Given the description of an element on the screen output the (x, y) to click on. 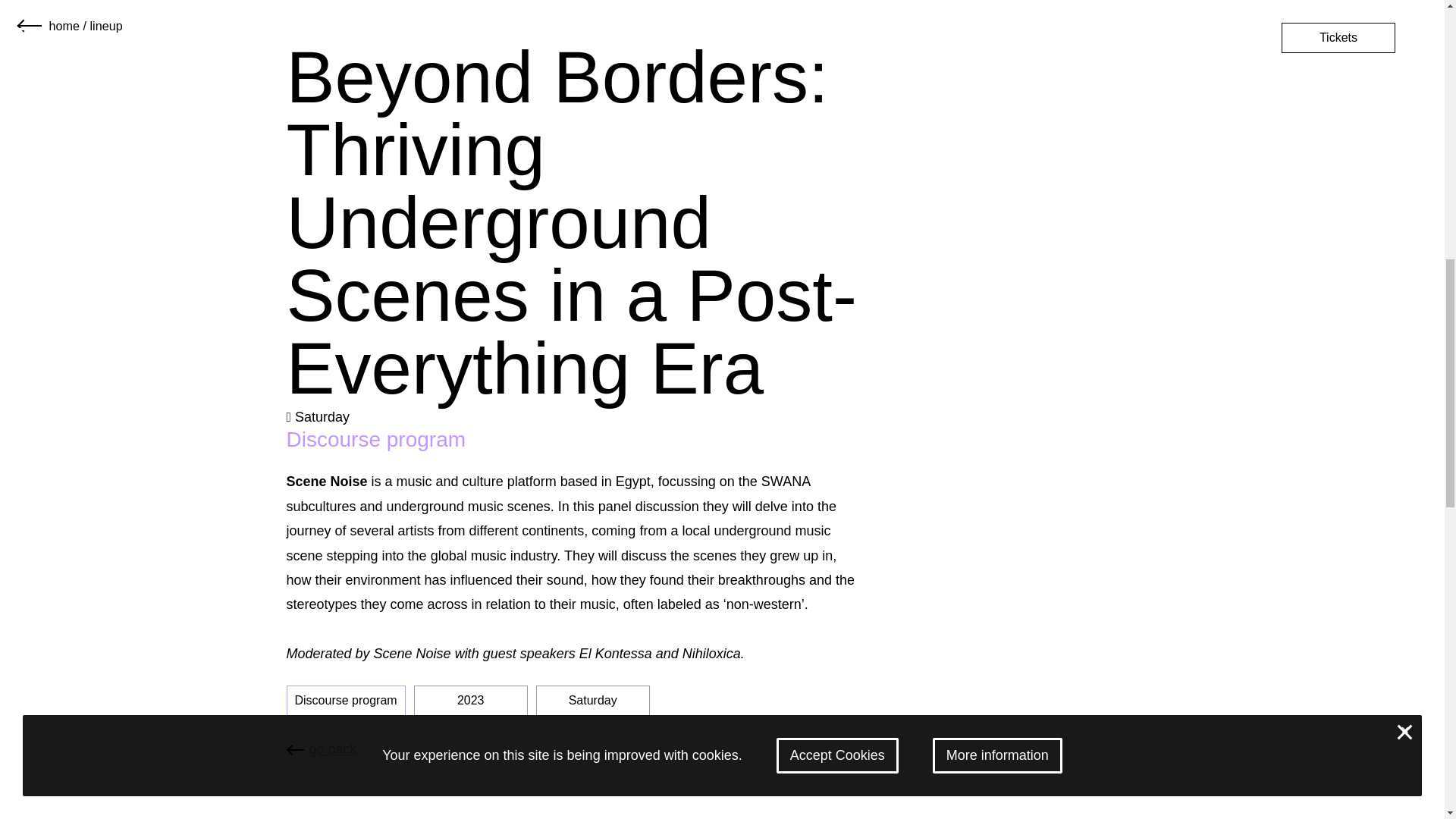
Discourse program (346, 700)
home (64, 25)
go back (321, 748)
Saturday (592, 700)
lineup (105, 25)
2023 (470, 700)
